Given the description of an element on the screen output the (x, y) to click on. 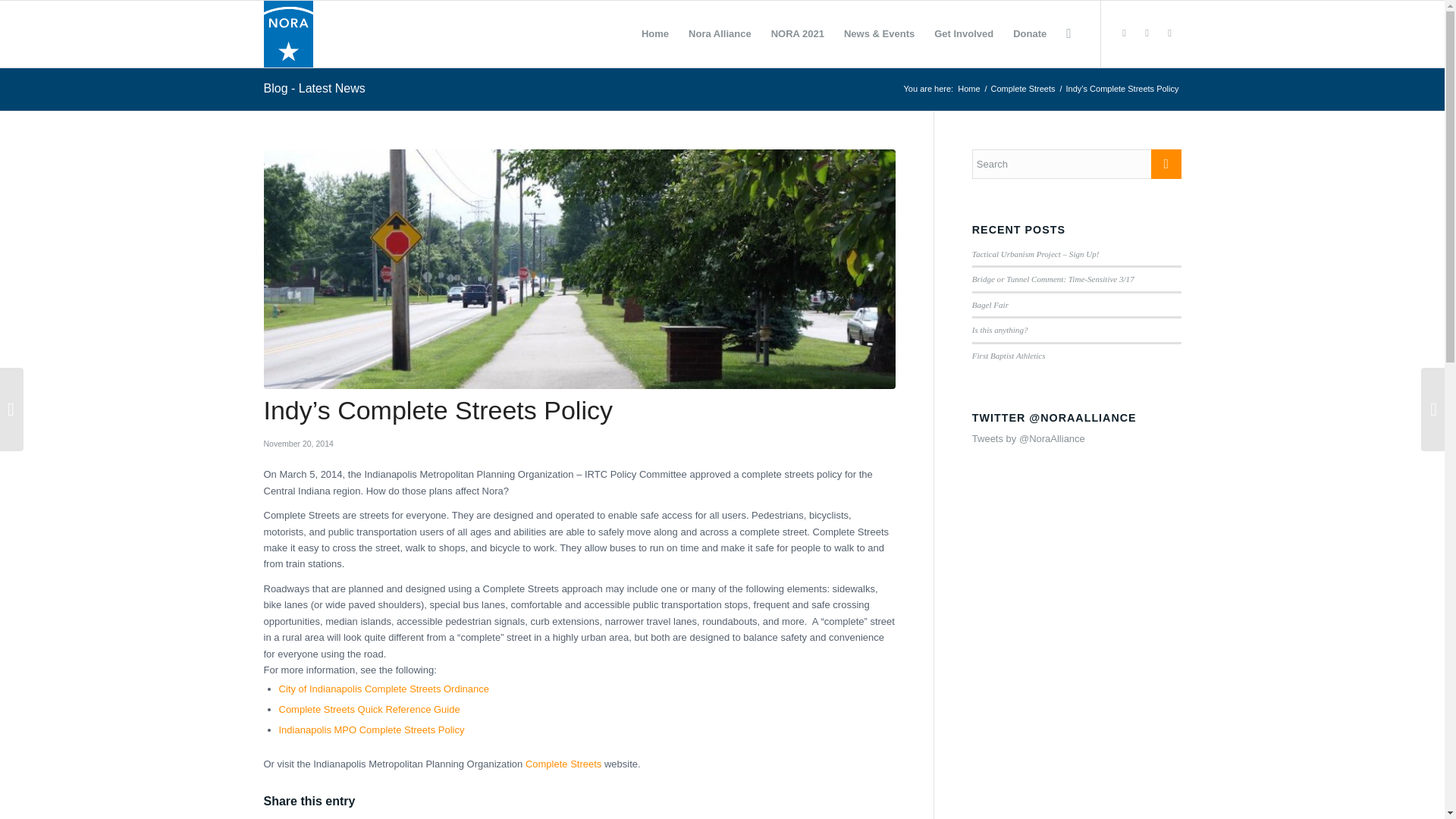
Complete Streets (563, 763)
Nora Alliance (719, 33)
Get Involved (963, 33)
Permanent Link: Blog - Latest News (314, 88)
Indianapolis MPO Complete Streets Policy (371, 729)
Complete Streets (1023, 89)
Facebook (1169, 33)
City of Indianapolis Complete Streets Ordinance (384, 688)
Blog - Latest News (314, 88)
